Given the description of an element on the screen output the (x, y) to click on. 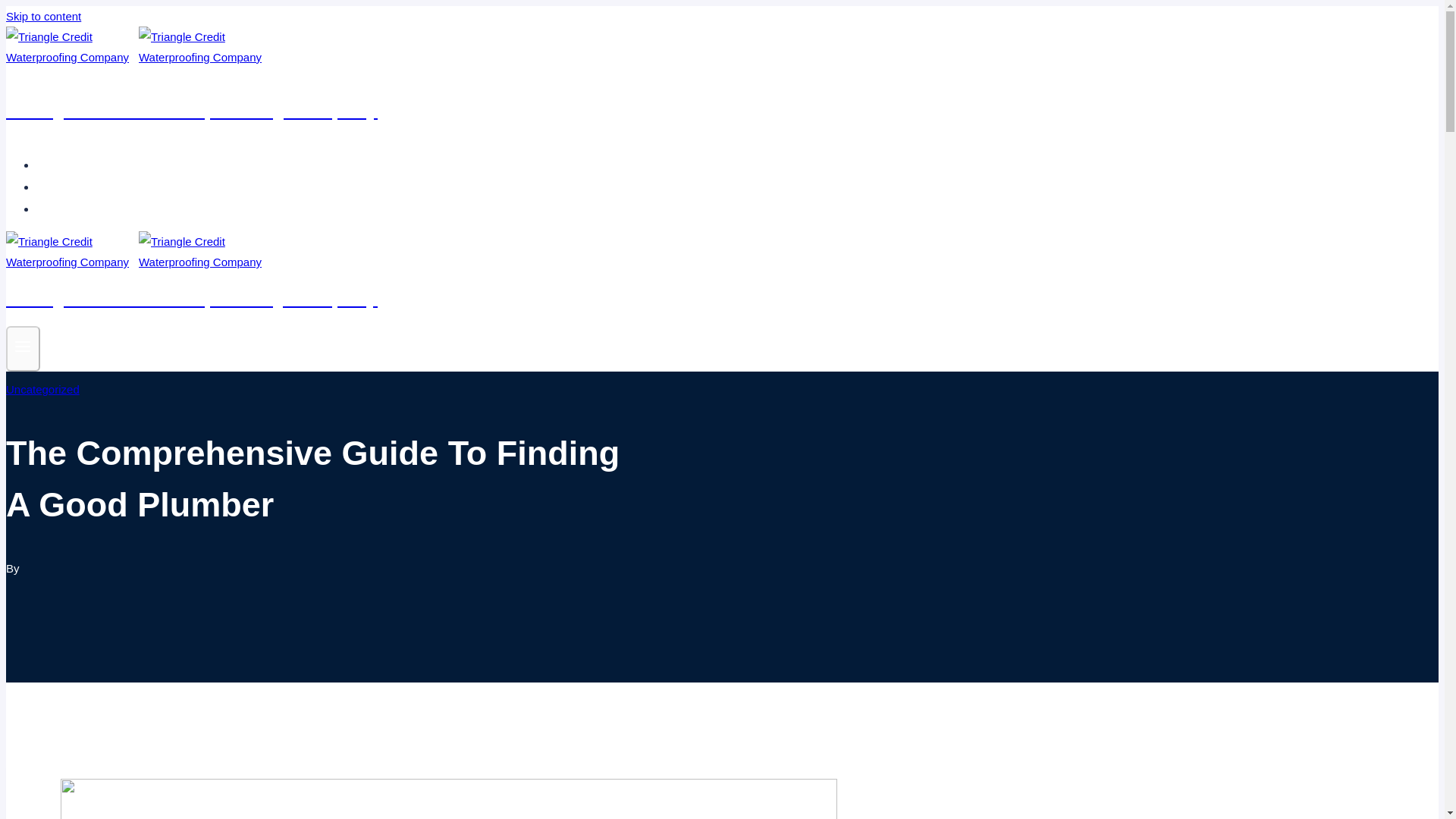
Uncategorized (42, 389)
Triangle Credit Waterproofing Company (494, 94)
Triangle Credit Waterproofing Company (494, 290)
Home (58, 164)
Blog (55, 208)
TOGGLE MENU (22, 346)
Skip to content (43, 15)
About us (65, 186)
Skip to content (43, 15)
